Given the description of an element on the screen output the (x, y) to click on. 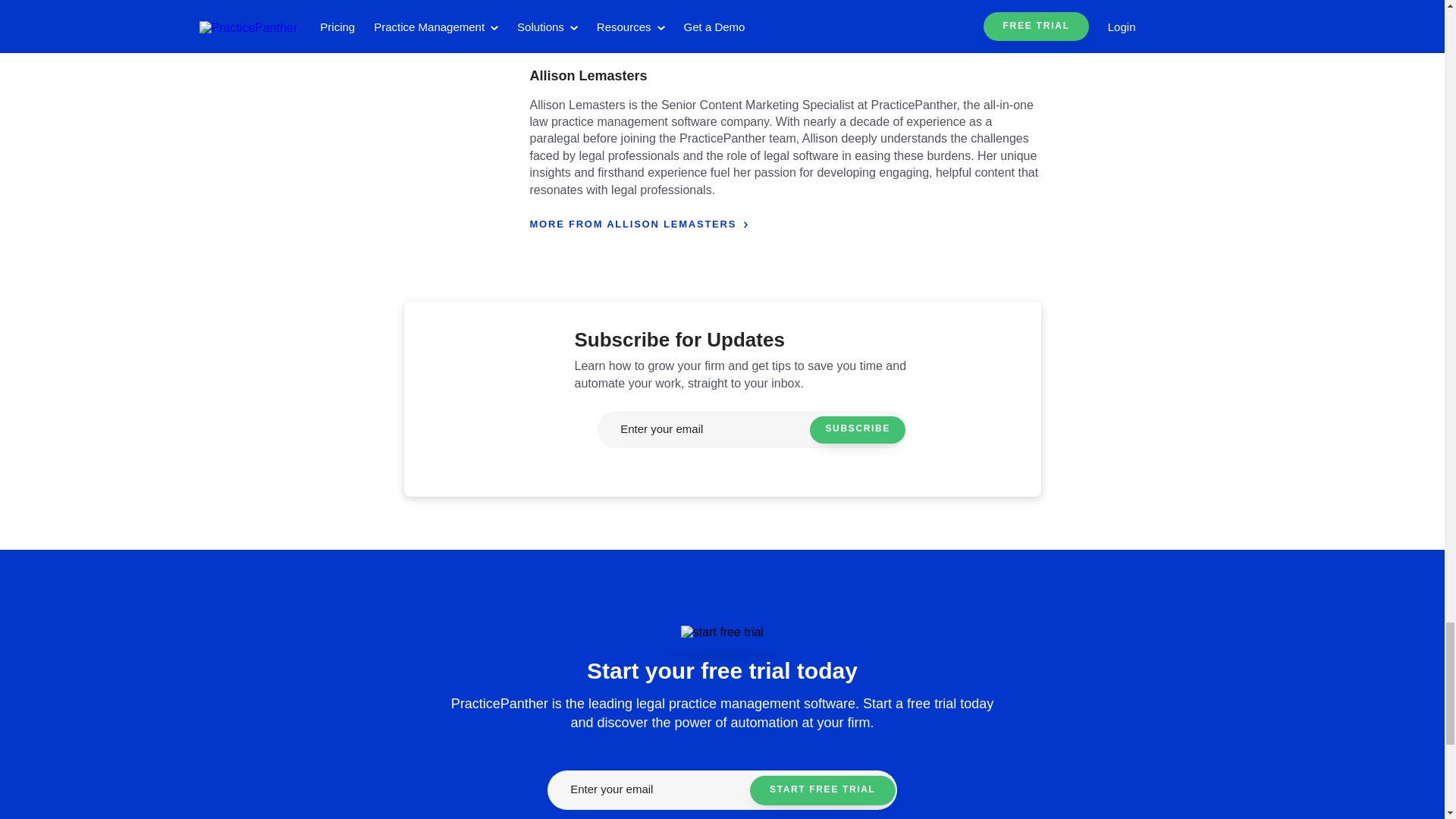
Start free trial (822, 790)
Subscribe (857, 429)
